Given the description of an element on the screen output the (x, y) to click on. 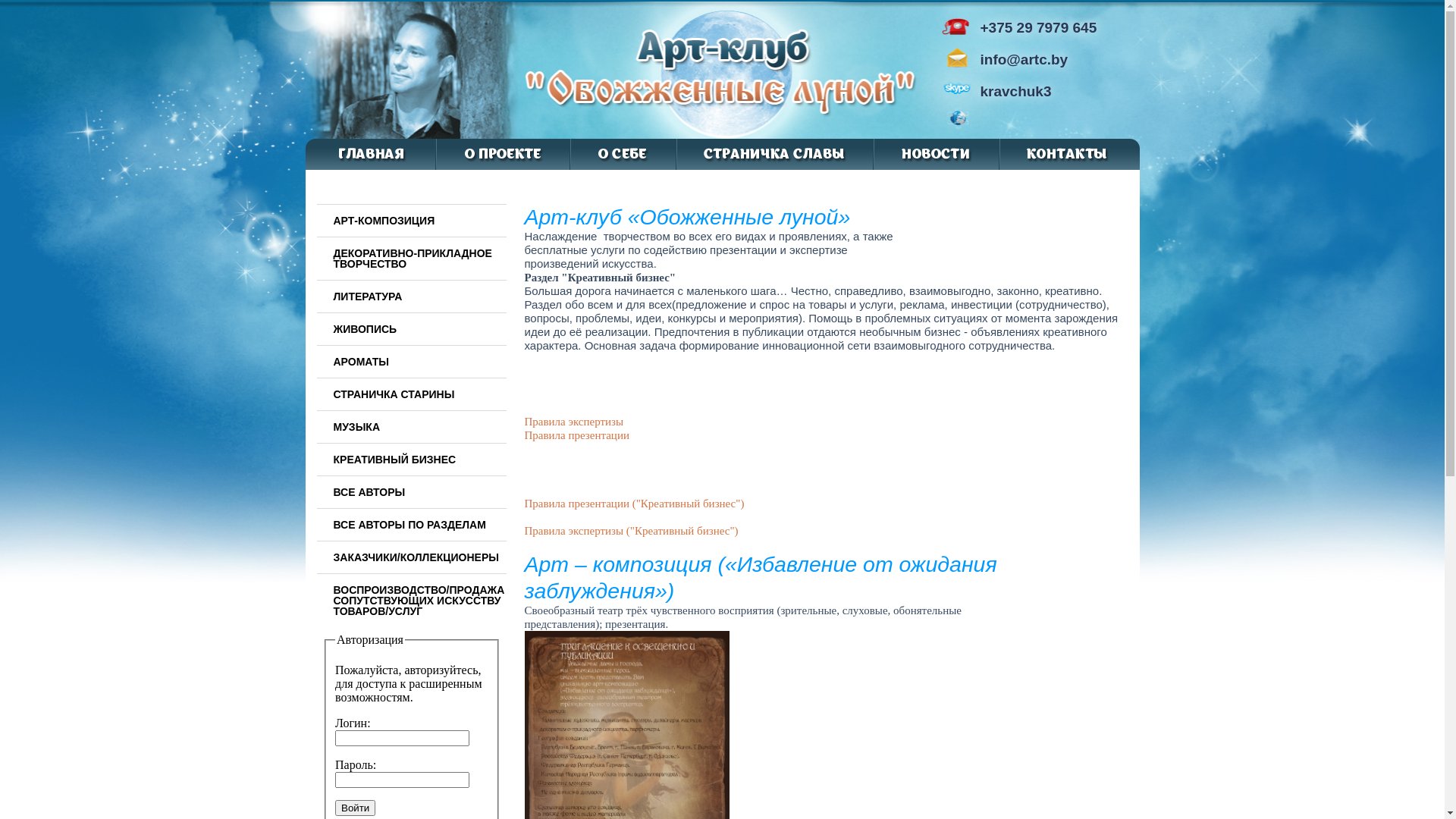
  Element type: text (981, 122)
  Element type: text (989, 122)
